Given the description of an element on the screen output the (x, y) to click on. 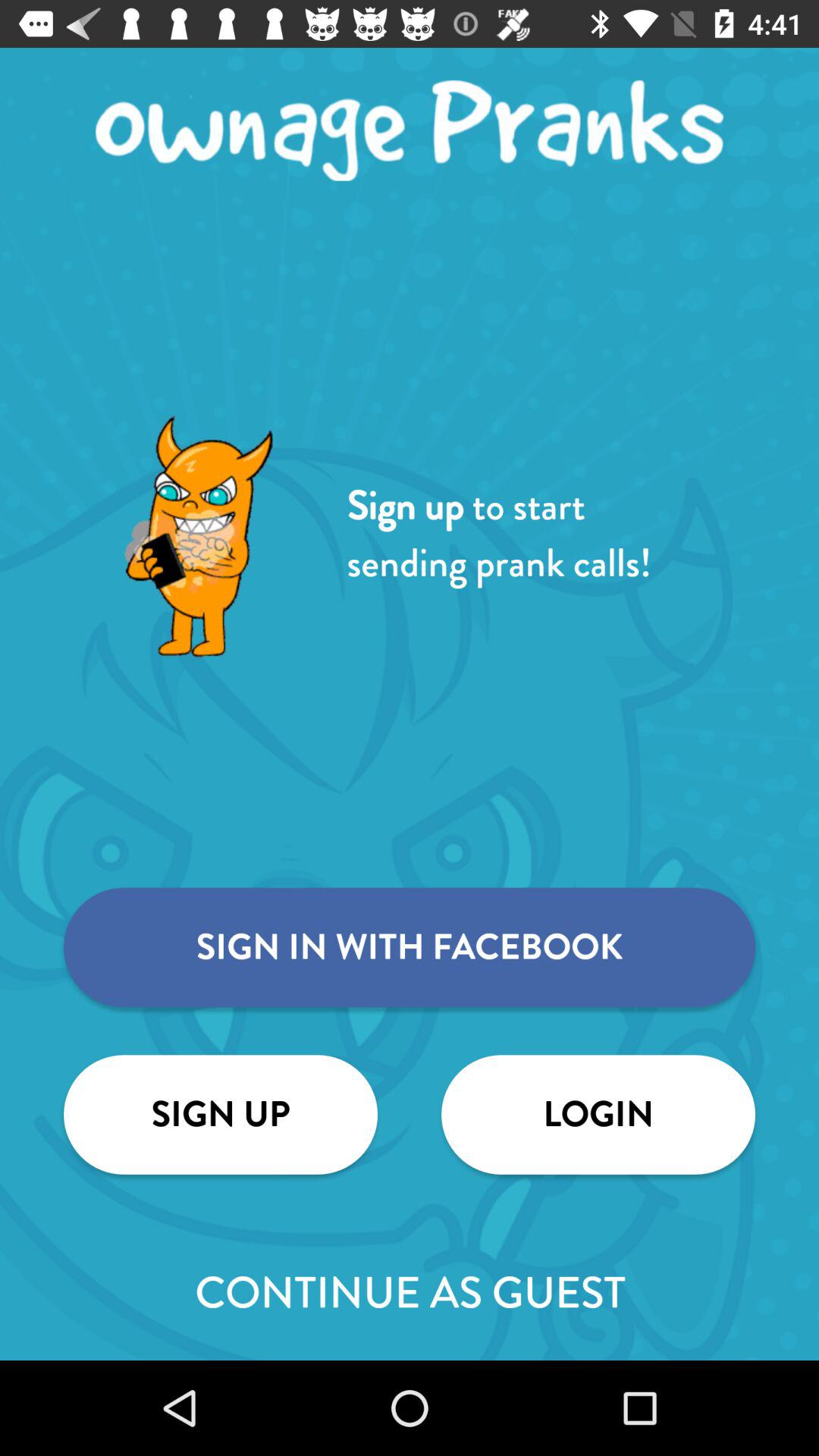
scroll until the continue as guest (410, 1293)
